Given the description of an element on the screen output the (x, y) to click on. 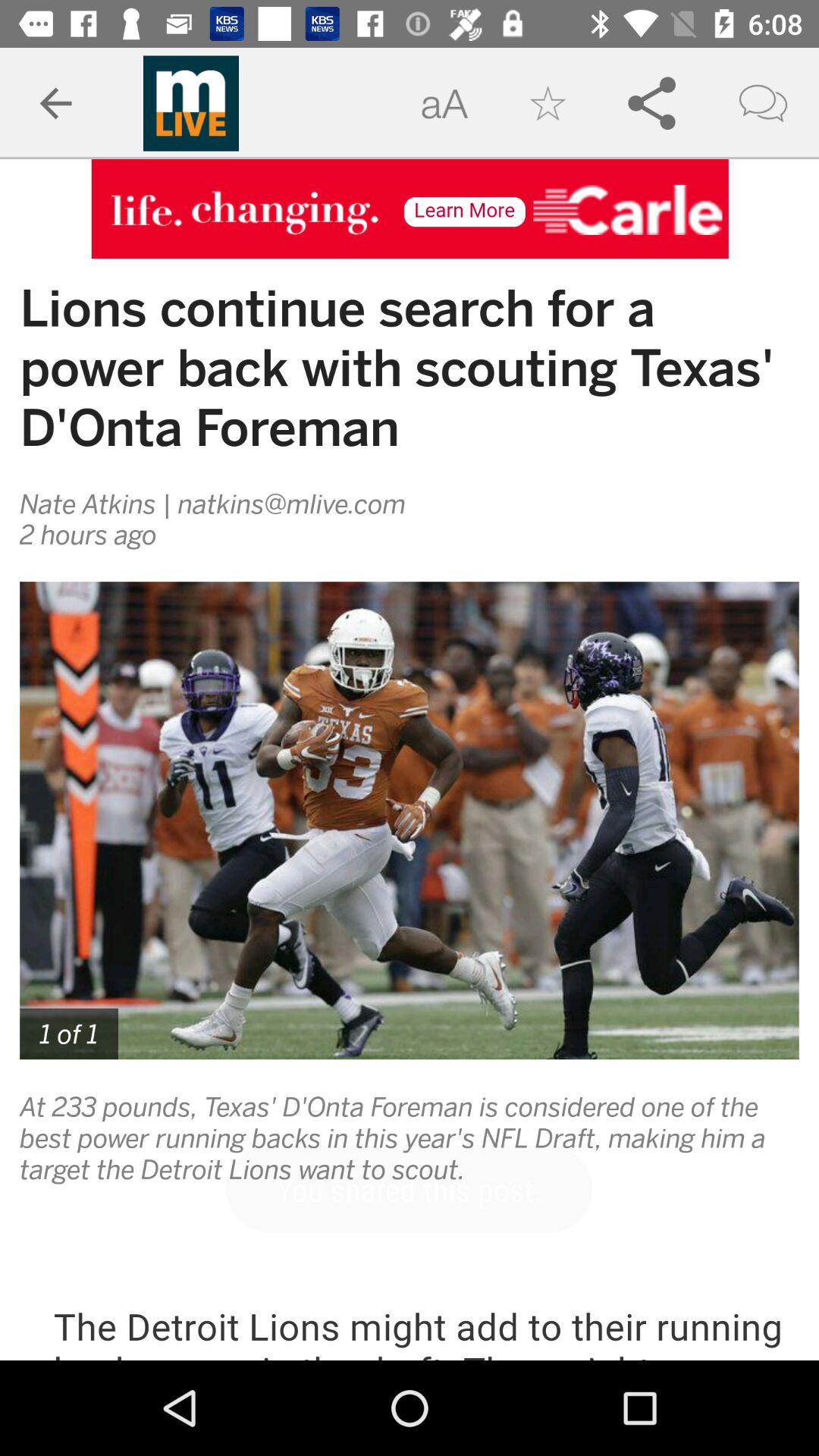
select the logo in the menu bar (191, 103)
select the text to the left of star icon (444, 103)
select the image (409, 819)
click the comment icon (763, 103)
